Given the description of an element on the screen output the (x, y) to click on. 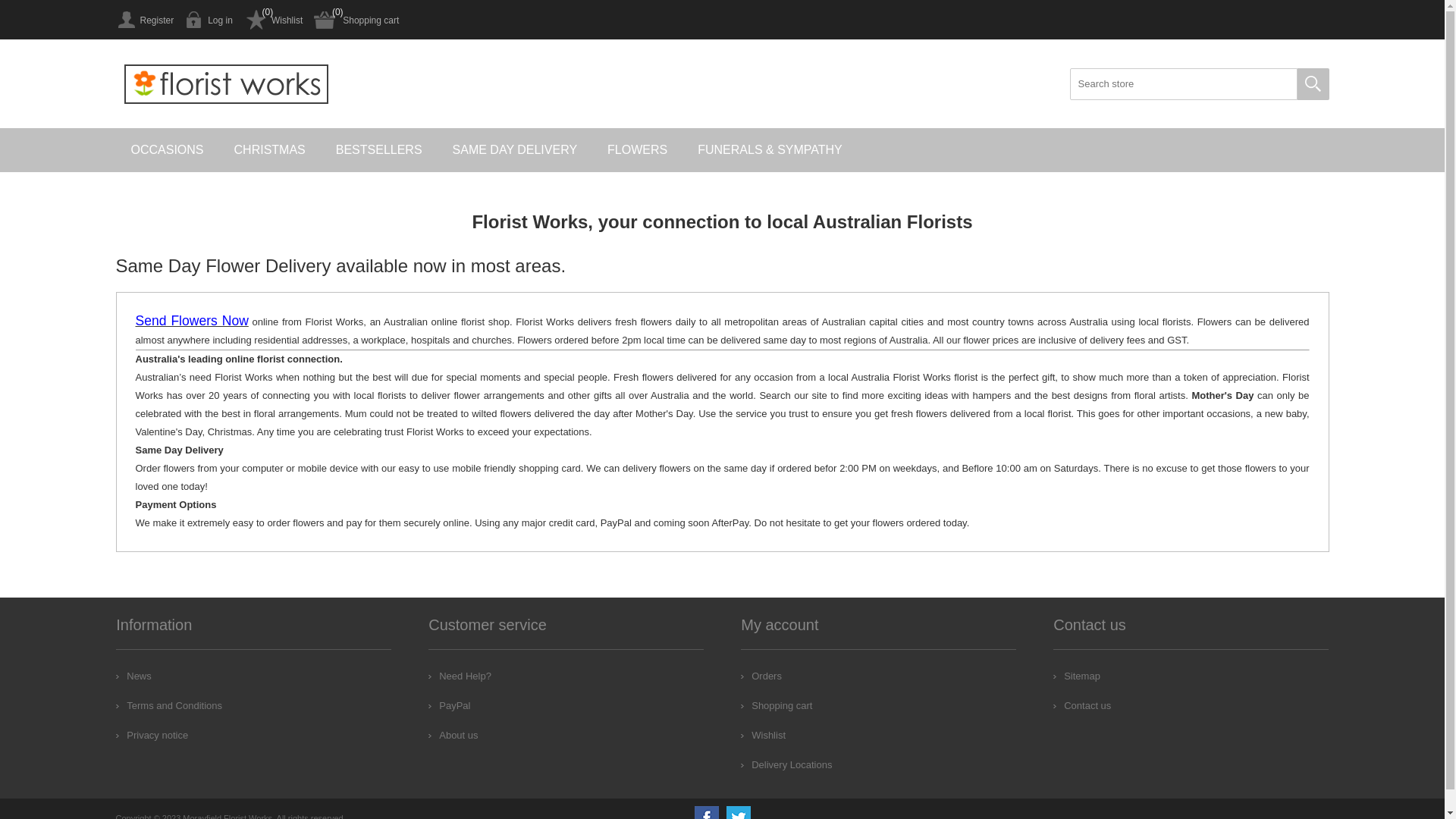
Need Help? Element type: text (459, 675)
FUNERALS & SYMPATHY Element type: text (769, 150)
PayPal Element type: text (449, 705)
Terms and Conditions Element type: text (169, 705)
Privacy notice Element type: text (152, 734)
CHRISTMAS Element type: text (269, 150)
Sitemap Element type: text (1076, 675)
Register Element type: text (144, 19)
OCCASIONS Element type: text (166, 150)
Send Flowers Now Element type: text (190, 321)
Shopping cart Element type: text (355, 19)
Contact us Element type: text (1081, 705)
Search Element type: text (1312, 84)
News Element type: text (133, 675)
About us Element type: text (452, 734)
Wishlist Element type: text (762, 734)
Log in Element type: text (208, 19)
BESTSELLERS Element type: text (378, 150)
Wishlist Element type: text (273, 19)
Shopping cart Element type: text (776, 705)
SAME DAY DELIVERY Element type: text (515, 150)
FLOWERS Element type: text (637, 150)
Delivery Locations Element type: text (785, 764)
Orders Element type: text (760, 675)
